Given the description of an element on the screen output the (x, y) to click on. 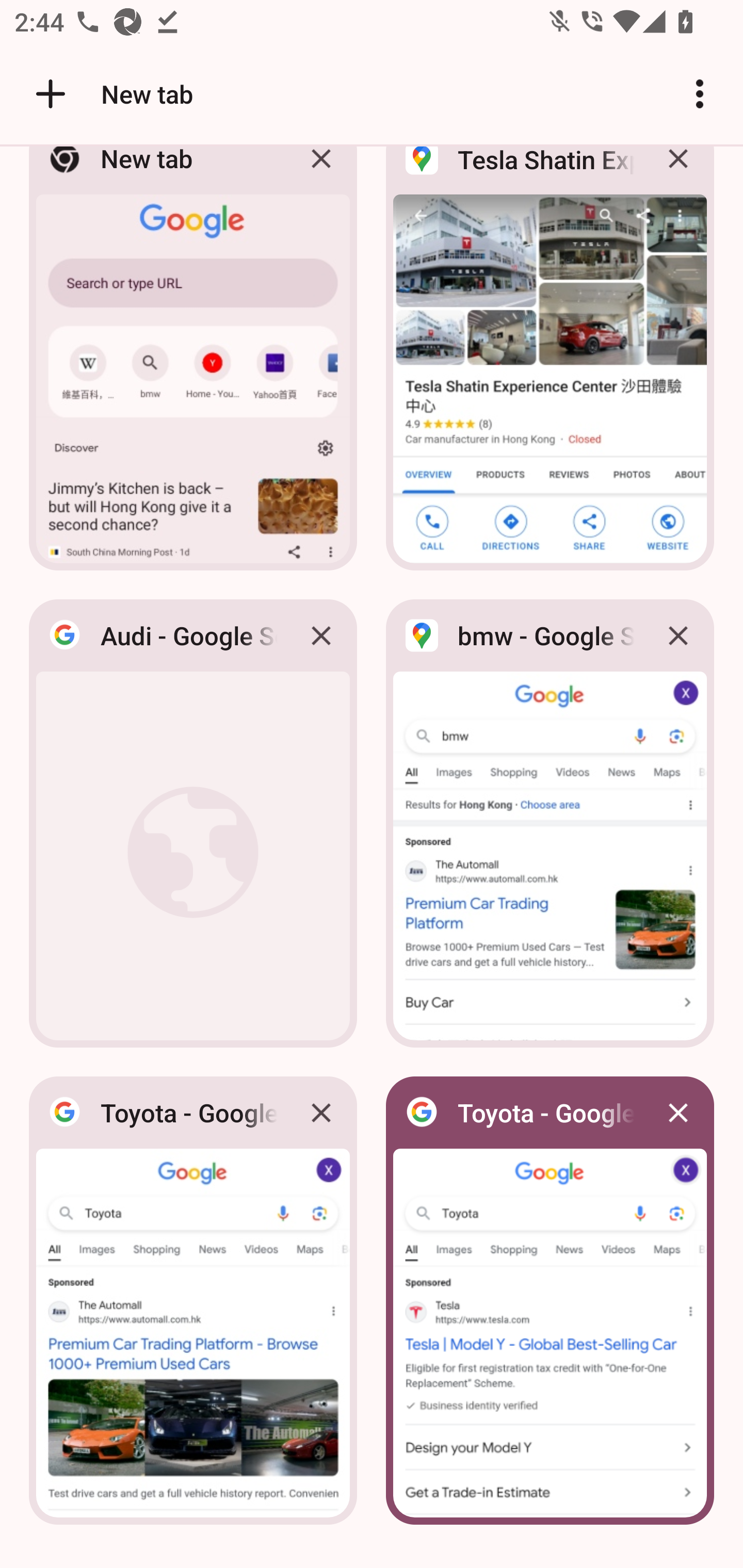
Open the home page (43, 93)
New tab (111, 93)
Customize and control Google Chrome (699, 93)
New tab New tab, tab Close New tab tab (192, 364)
Close New tab tab (320, 173)
Close Audi - Google Search tab (320, 635)
Close bmw - Google Search tab (677, 635)
Close Toyota - Google Search tab (320, 1112)
Close Toyota - Google Search tab (677, 1112)
